Given the description of an element on the screen output the (x, y) to click on. 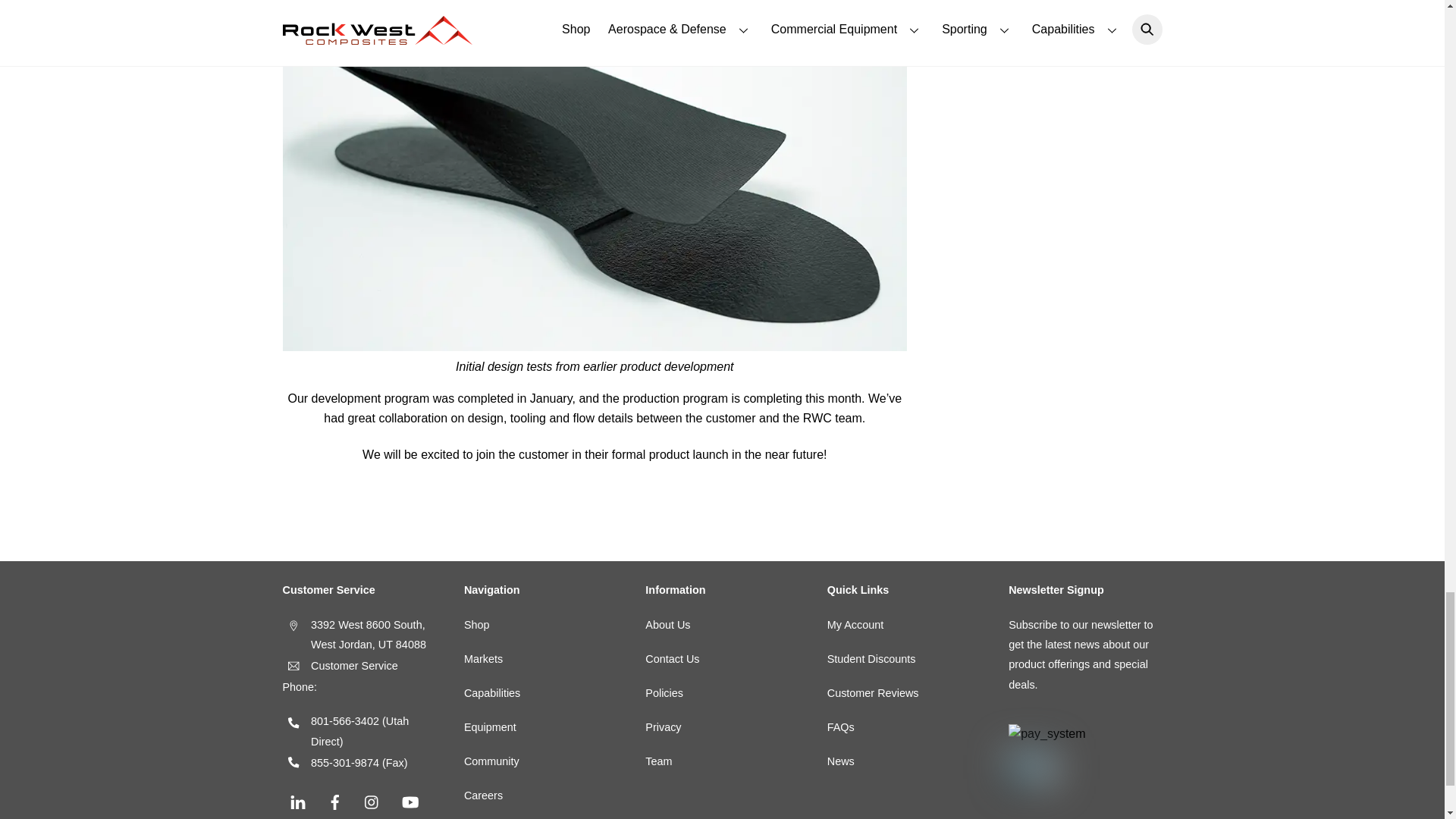
1HOME (483, 658)
Equipment (490, 727)
Contact Us (671, 658)
Capabilities (491, 693)
About Us (667, 624)
Teams (658, 761)
